Given the description of an element on the screen output the (x, y) to click on. 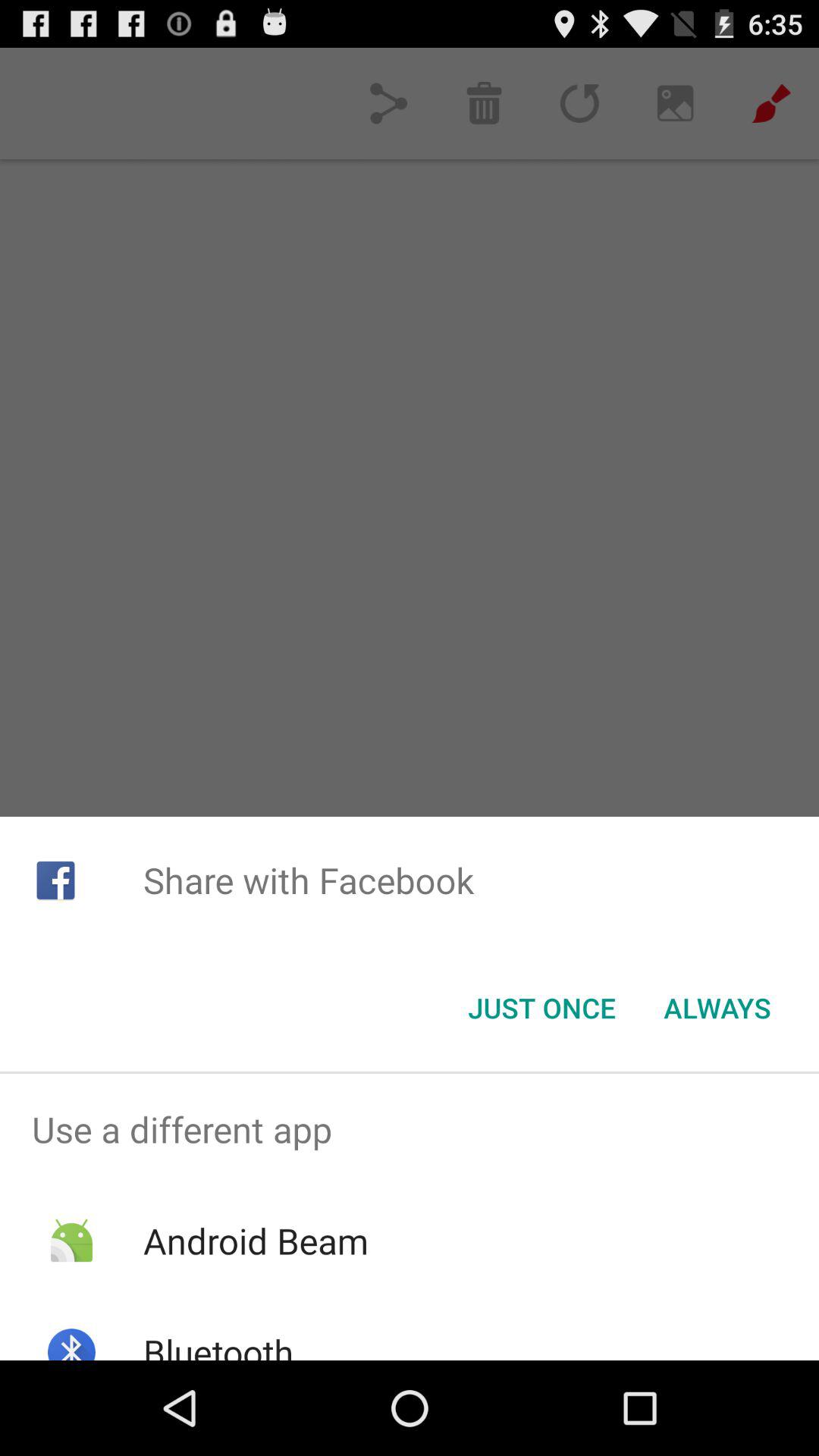
launch the always button (717, 1007)
